Given the description of an element on the screen output the (x, y) to click on. 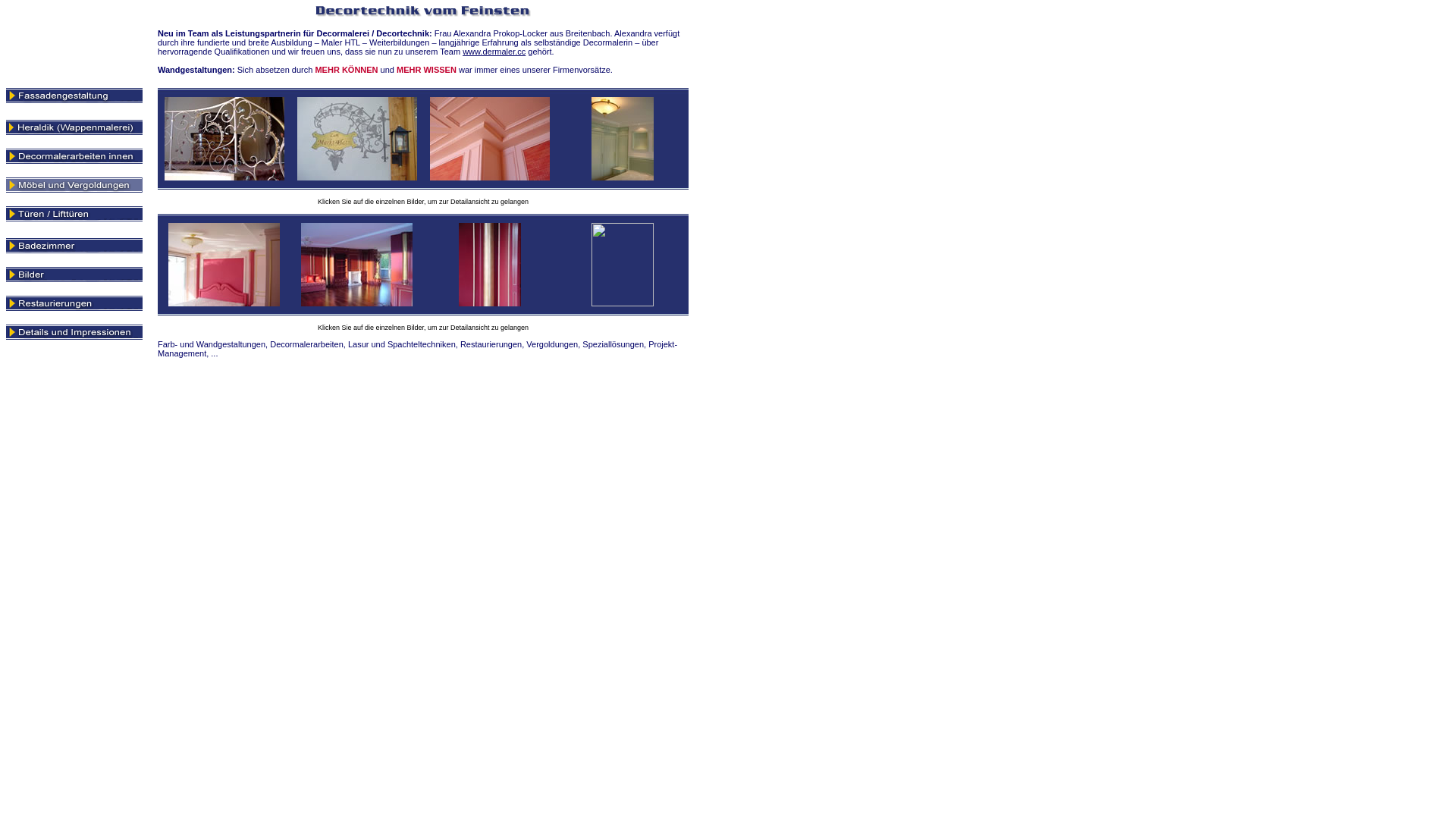
www.dermaler.cc Element type: text (493, 51)
